Given the description of an element on the screen output the (x, y) to click on. 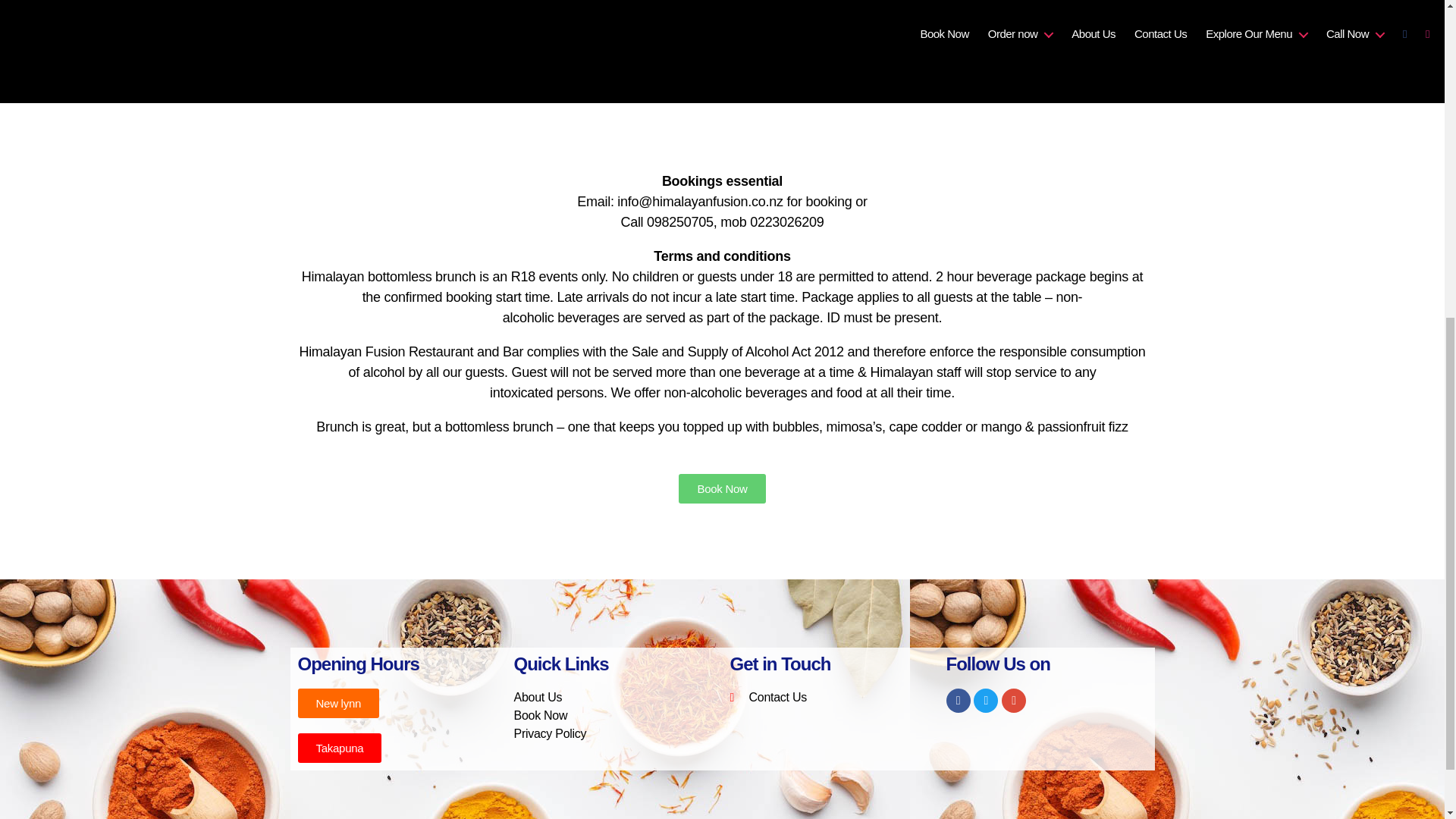
Book Now (540, 715)
Book Now (721, 488)
About Us (537, 697)
Takapuna (339, 747)
New lynn (337, 703)
